Given the description of an element on the screen output the (x, y) to click on. 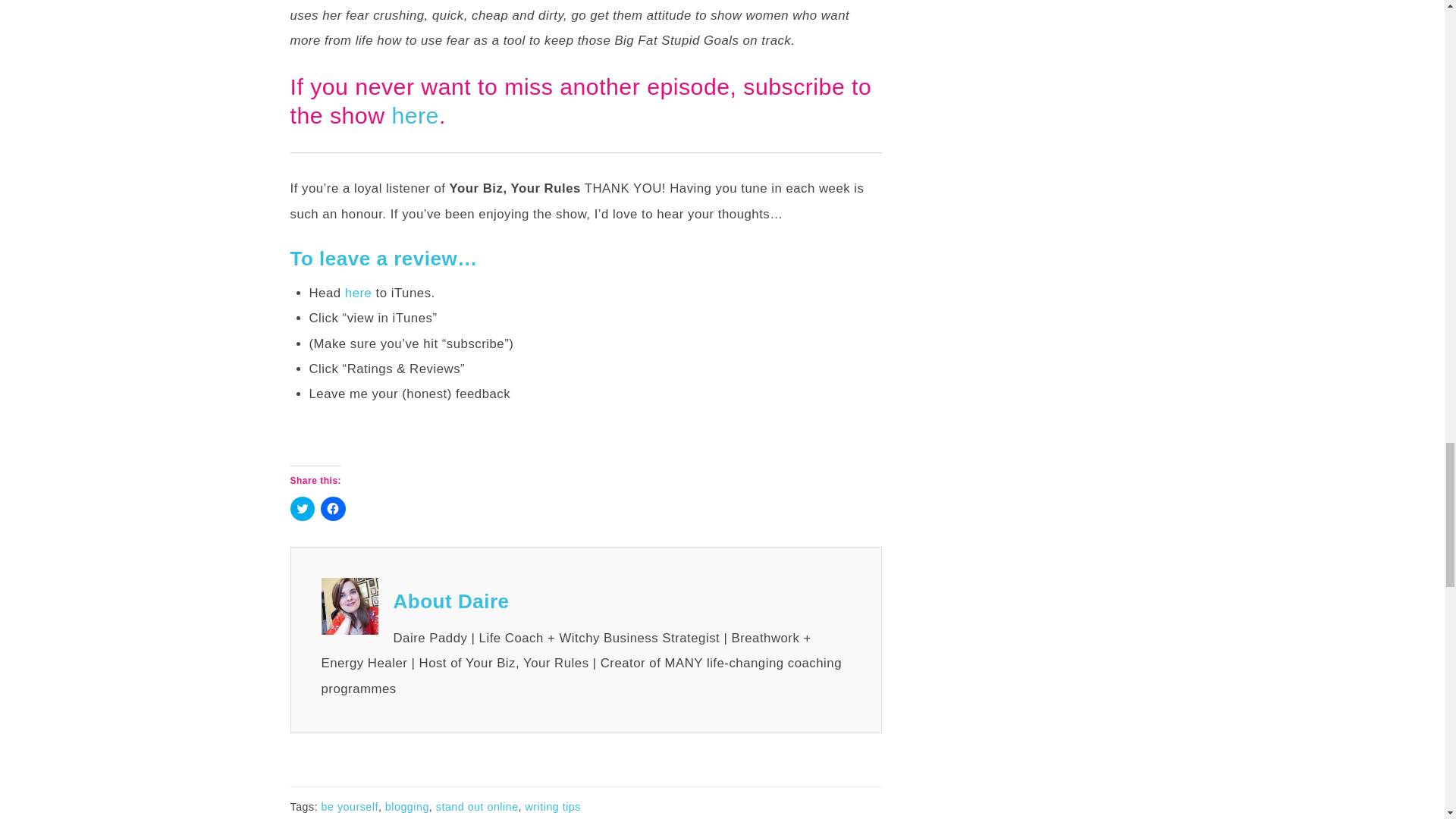
here (415, 115)
Click to share on Twitter (301, 508)
stand out online (476, 806)
blogging (407, 806)
here (358, 292)
writing tips (552, 806)
Click to share on Facebook (333, 508)
be yourself (349, 806)
